Given the description of an element on the screen output the (x, y) to click on. 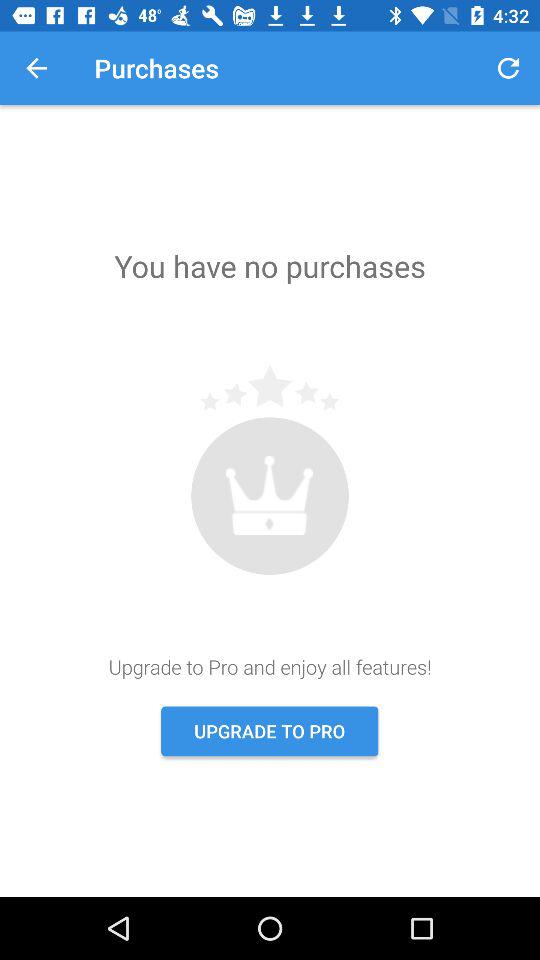
press the item to the right of the purchases item (508, 67)
